Given the description of an element on the screen output the (x, y) to click on. 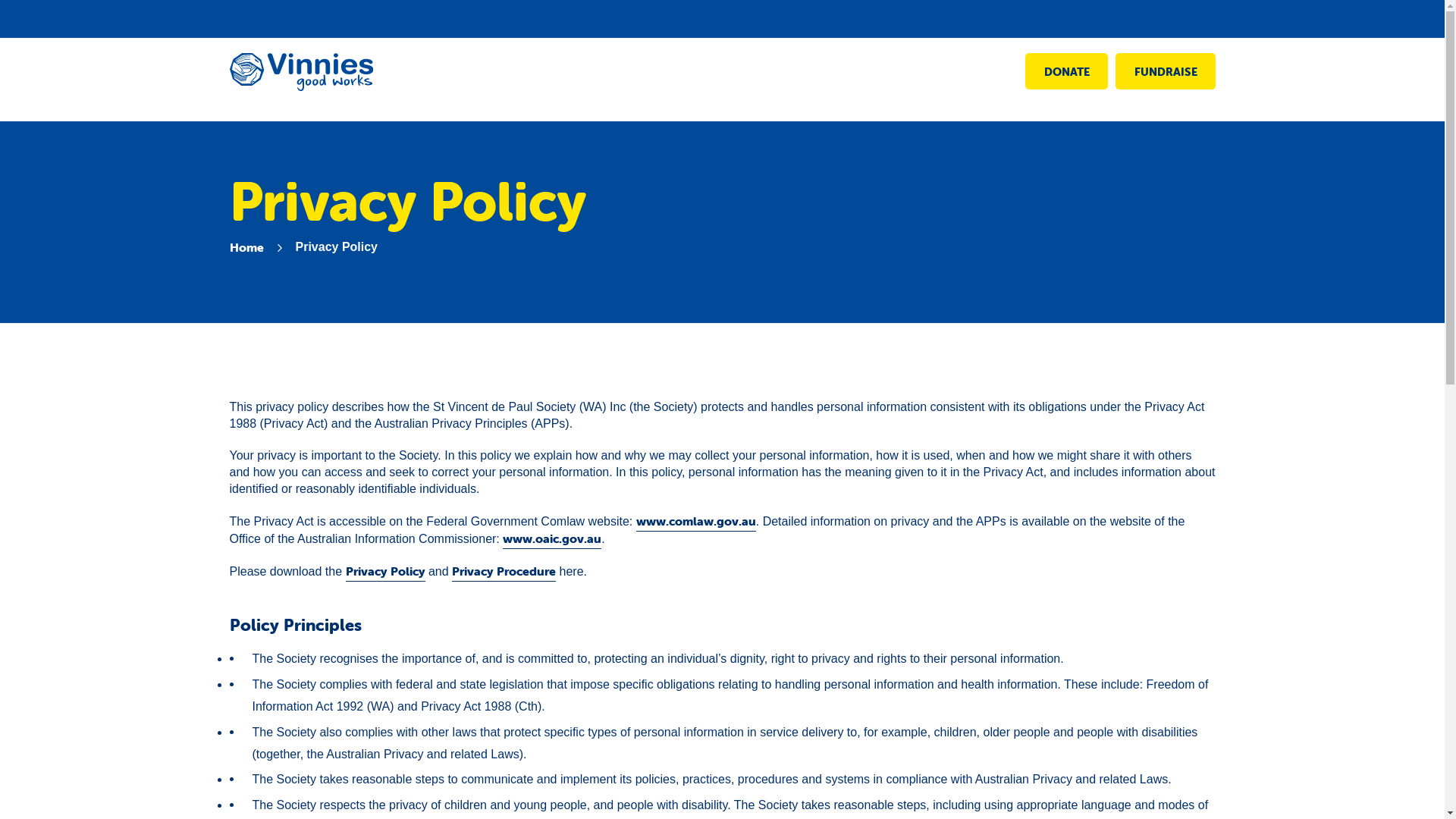
Privacy Policy Element type: text (385, 571)
Home Element type: text (245, 247)
www.oaic.gov.au Element type: text (551, 538)
Privacy Procedure Element type: text (503, 571)
www.comlaw.gov.au Element type: text (696, 521)
FUNDRAISE Element type: text (1164, 71)
Vinnies WA Element type: text (300, 86)
DONATE Element type: text (1066, 71)
